Given the description of an element on the screen output the (x, y) to click on. 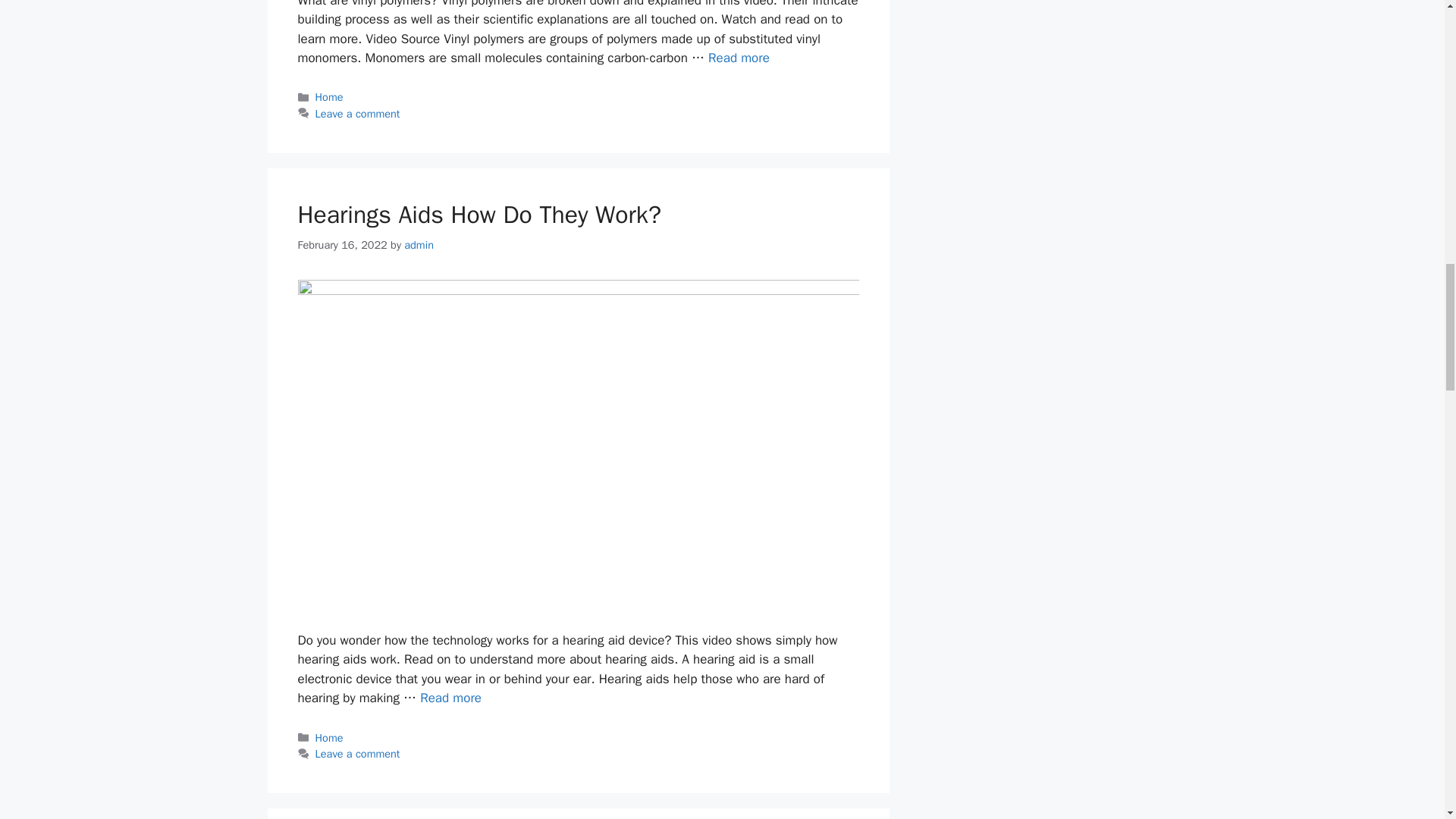
Leave a comment (357, 113)
Vinyl Polymers Explained (738, 57)
admin (418, 244)
Home (329, 97)
Hearings Aids How Do They Work? (479, 214)
Read more (738, 57)
View all posts by admin (418, 244)
Leave a comment (357, 753)
Read more (450, 697)
Hearings Aids  How Do They Work? (450, 697)
Home (329, 737)
